Given the description of an element on the screen output the (x, y) to click on. 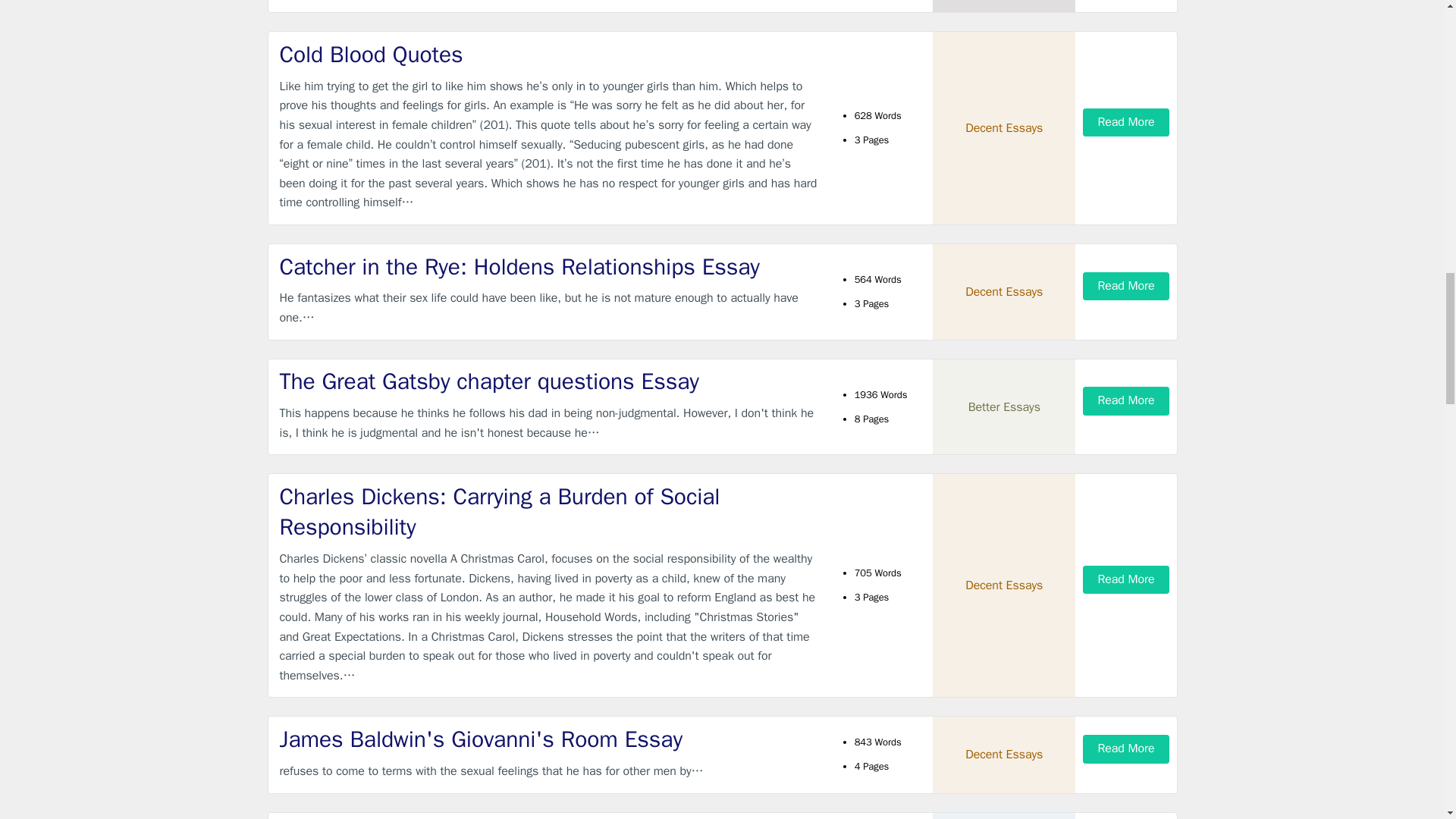
Read More (1126, 748)
Cold Blood Quotes (548, 54)
Catcher in the Rye: Holdens Relationships Essay (548, 266)
Read More (1126, 122)
The Great Gatsby chapter questions Essay (548, 381)
Read More (1126, 285)
Read More (1126, 579)
James Baldwin's Giovanni's Room Essay (548, 739)
Read More (1126, 400)
Charles Dickens: Carrying a Burden of Social Responsibility (548, 511)
